Given the description of an element on the screen output the (x, y) to click on. 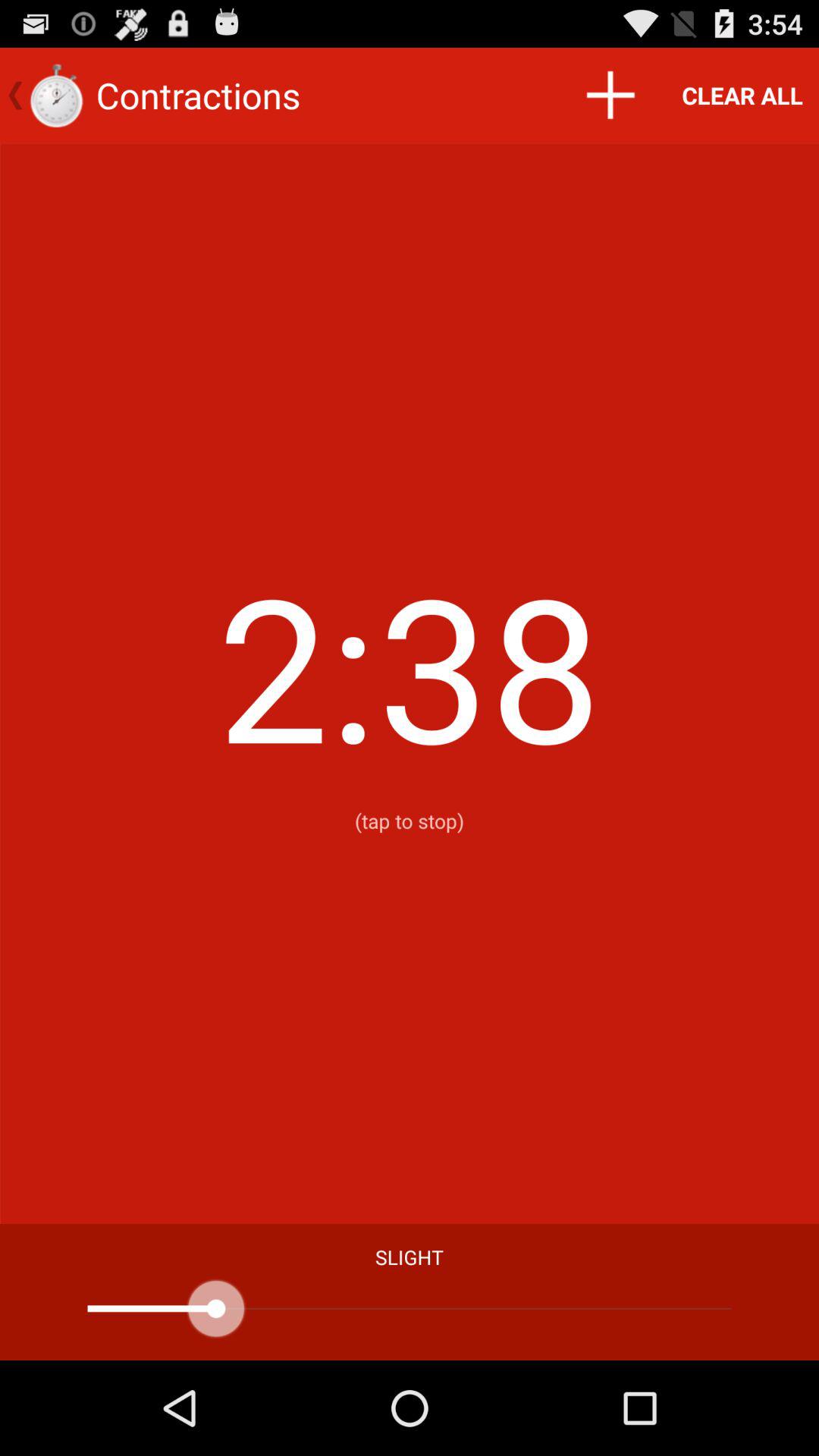
press the icon next to contractions icon (610, 95)
